Given the description of an element on the screen output the (x, y) to click on. 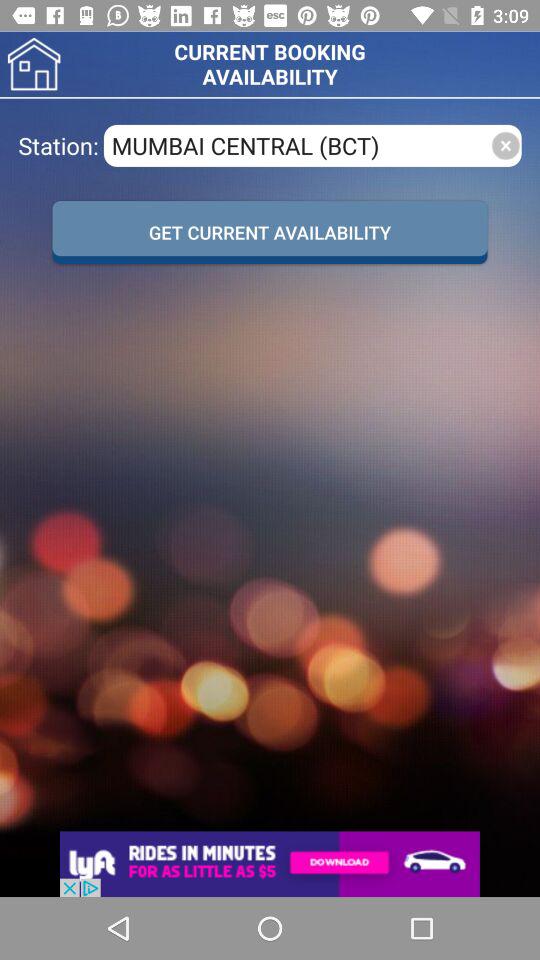
cancel (505, 145)
